Given the description of an element on the screen output the (x, y) to click on. 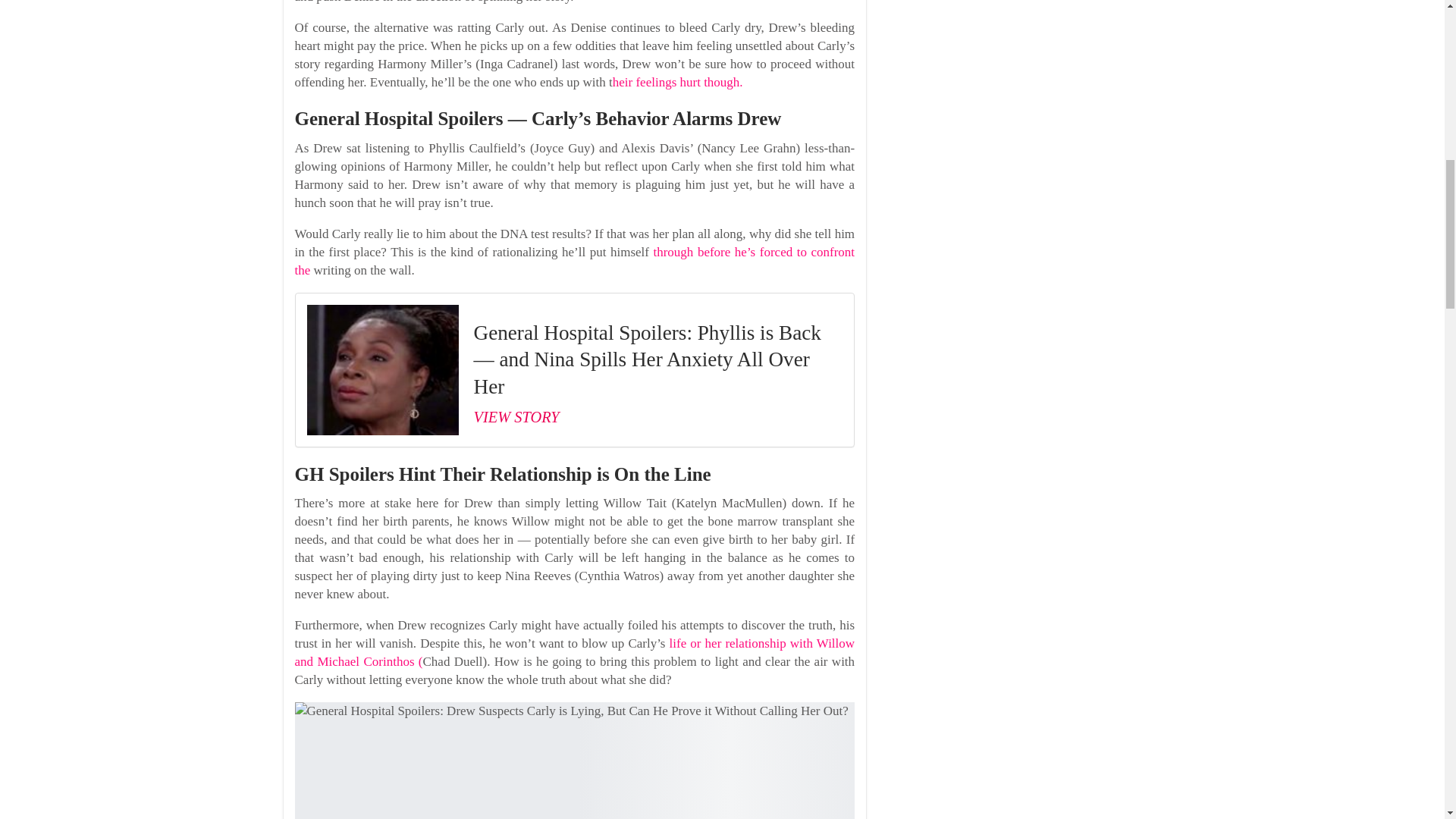
heir feelings hurt though. (677, 82)
